Given the description of an element on the screen output the (x, y) to click on. 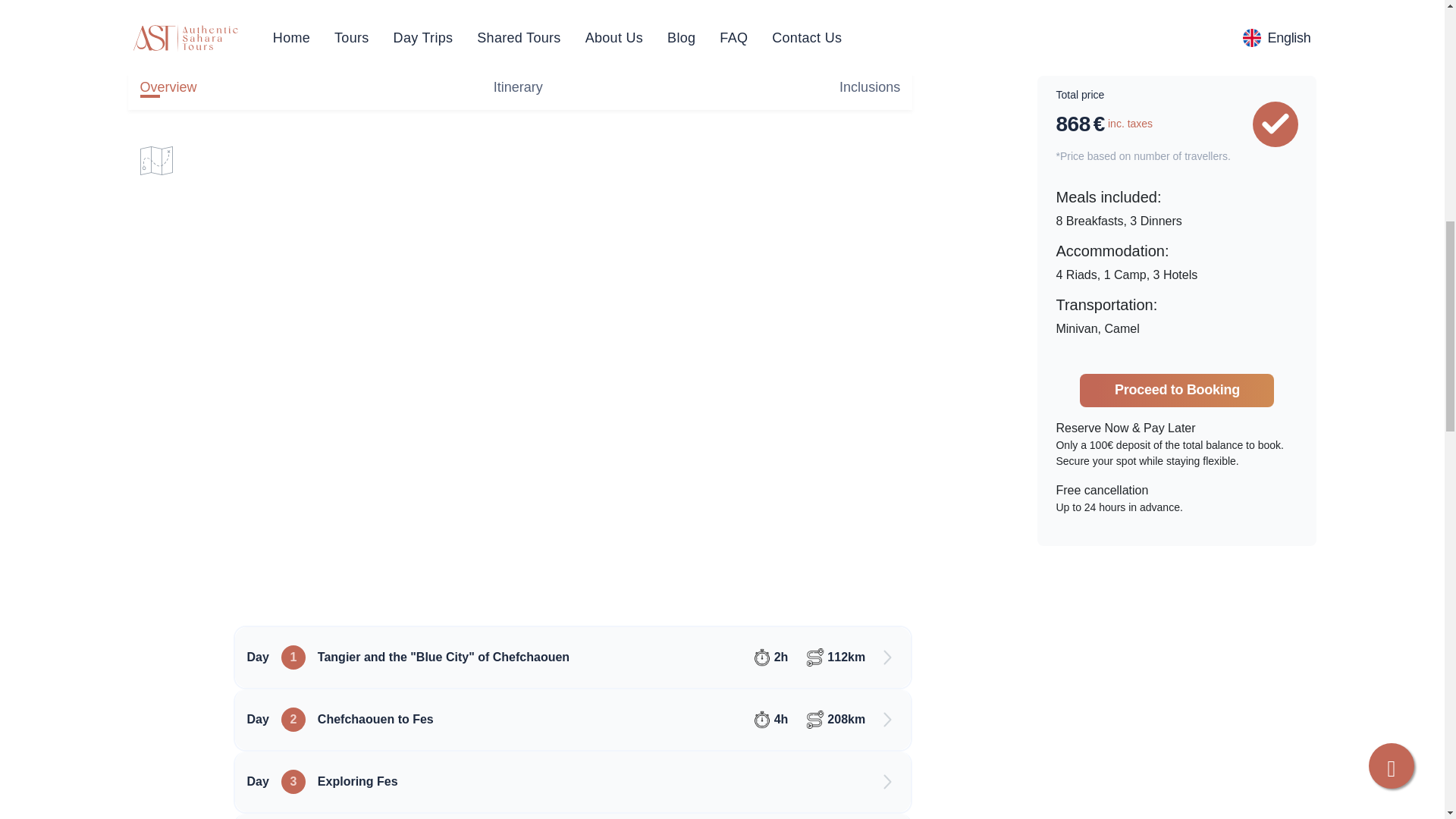
Proceed to Booking (1177, 19)
